Given the description of an element on the screen output the (x, y) to click on. 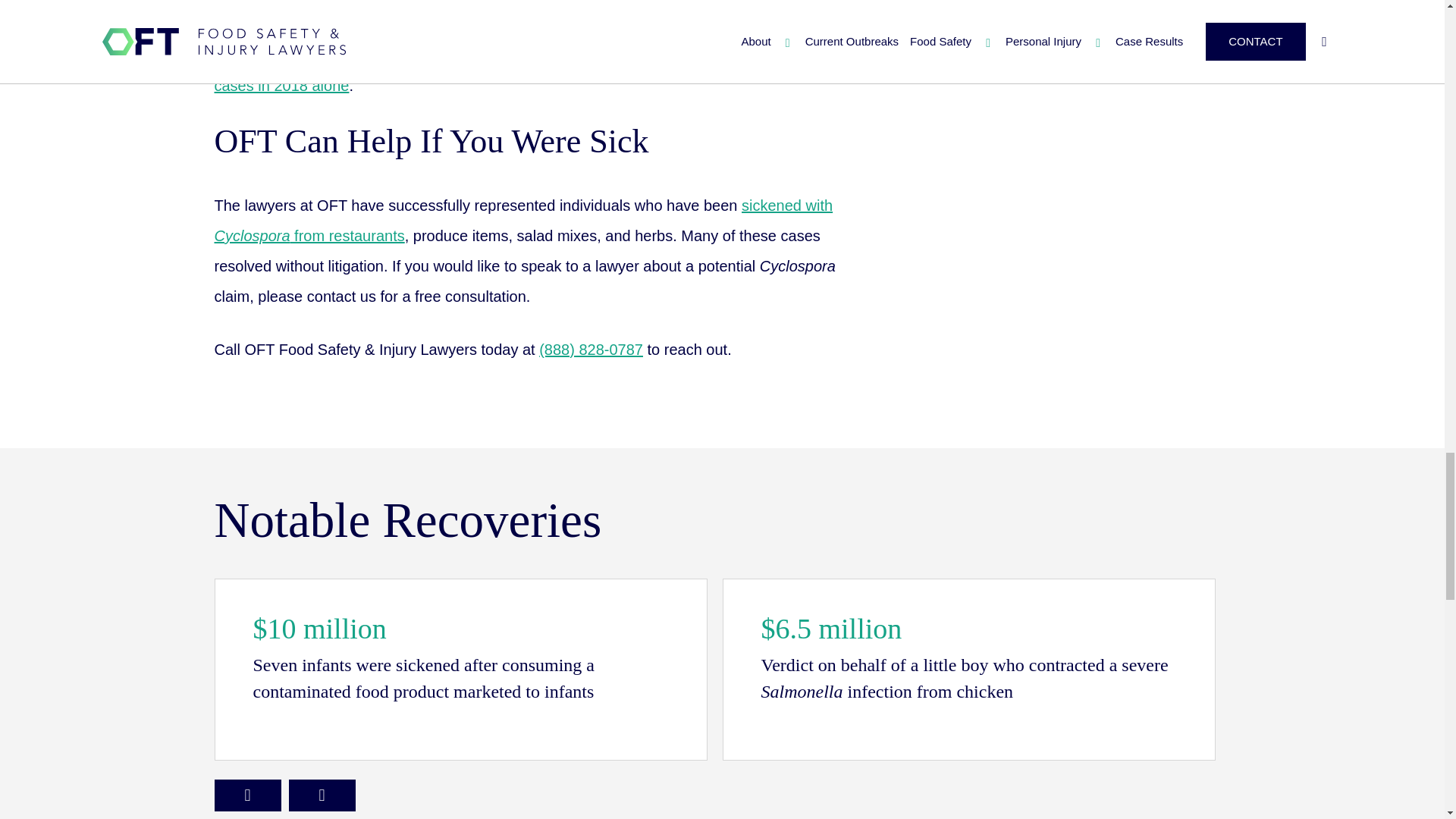
Suing a restaurant for food poisoning (523, 220)
